Given the description of an element on the screen output the (x, y) to click on. 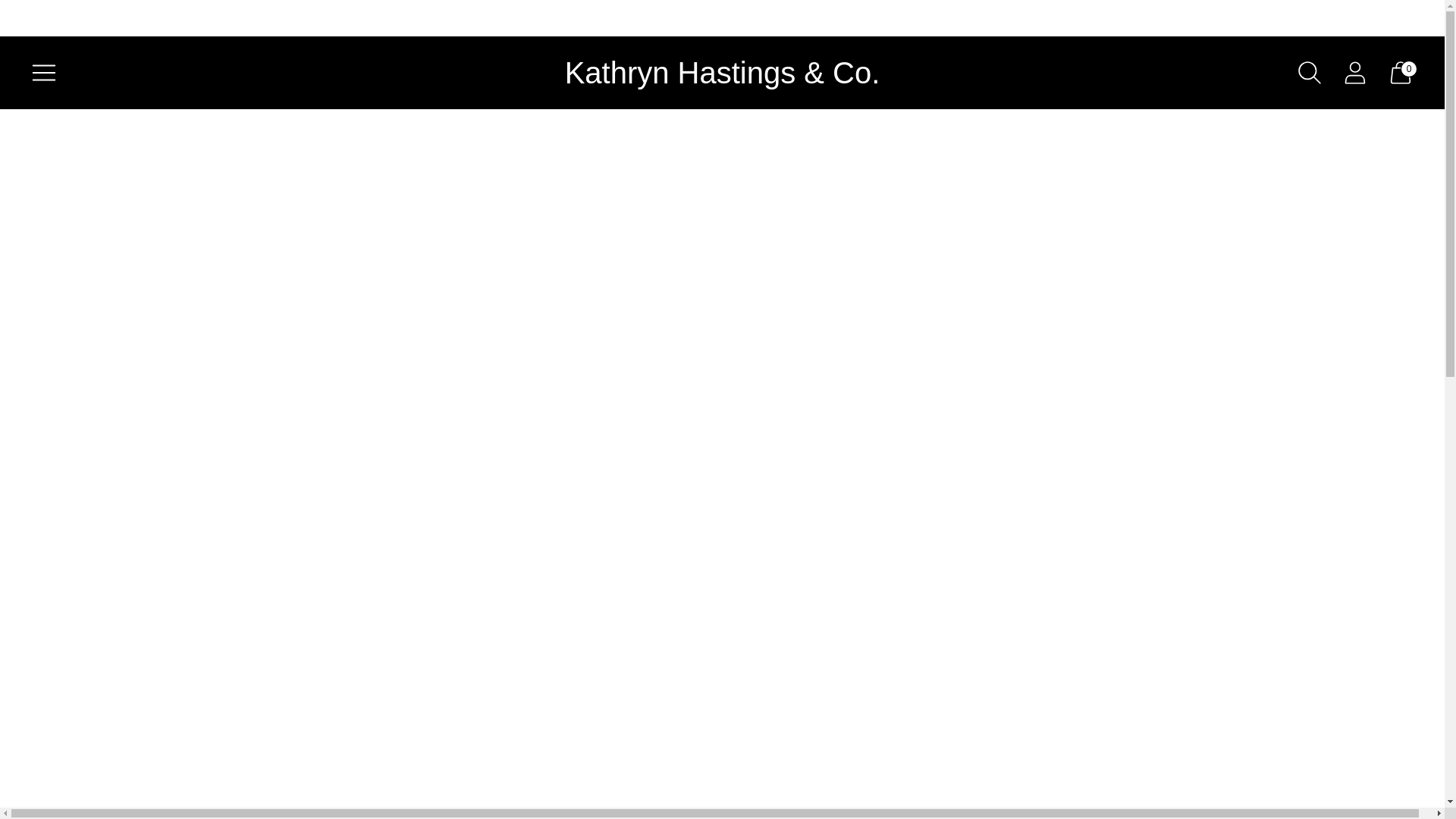
0 (1400, 72)
